Given the description of an element on the screen output the (x, y) to click on. 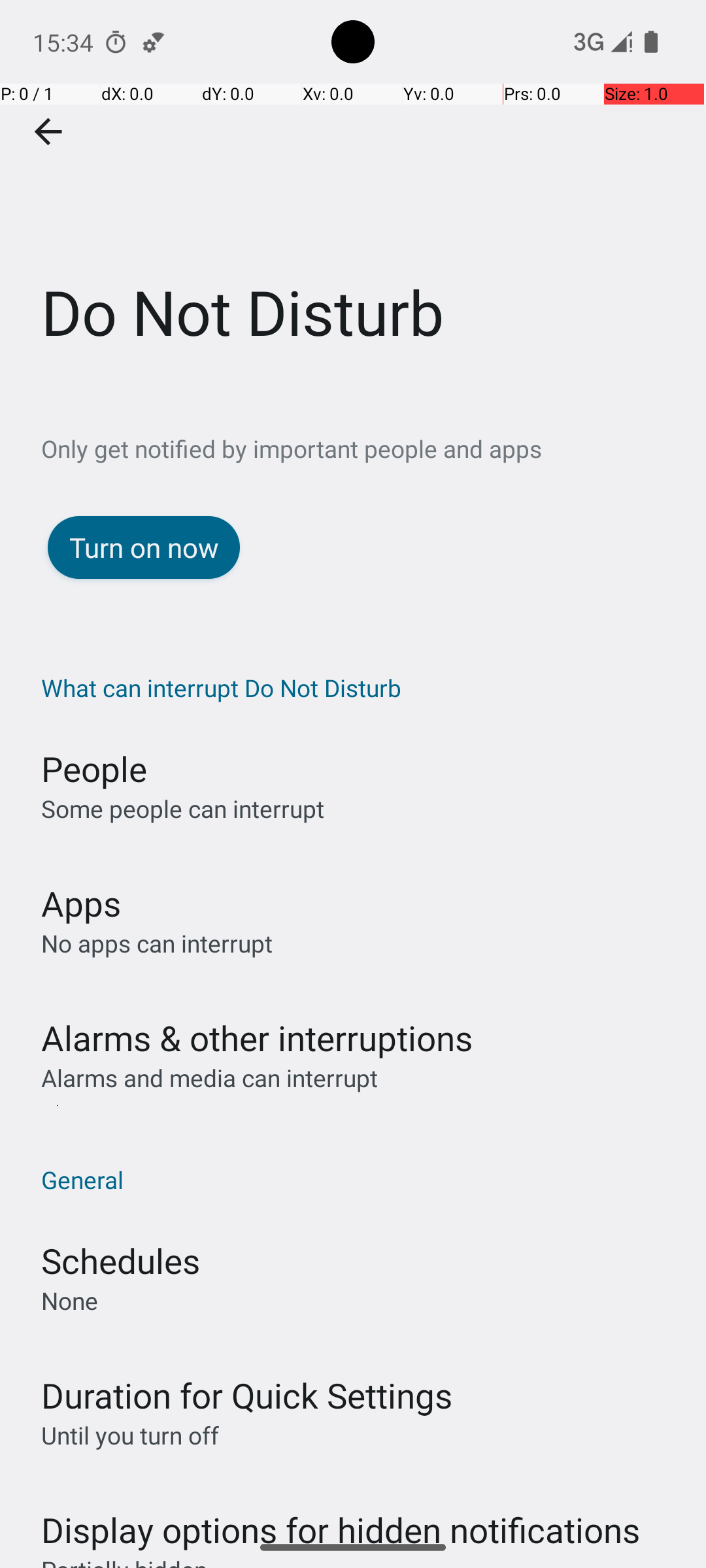
No apps can interrupt Element type: android.widget.TextView (156, 942)
